Given the description of an element on the screen output the (x, y) to click on. 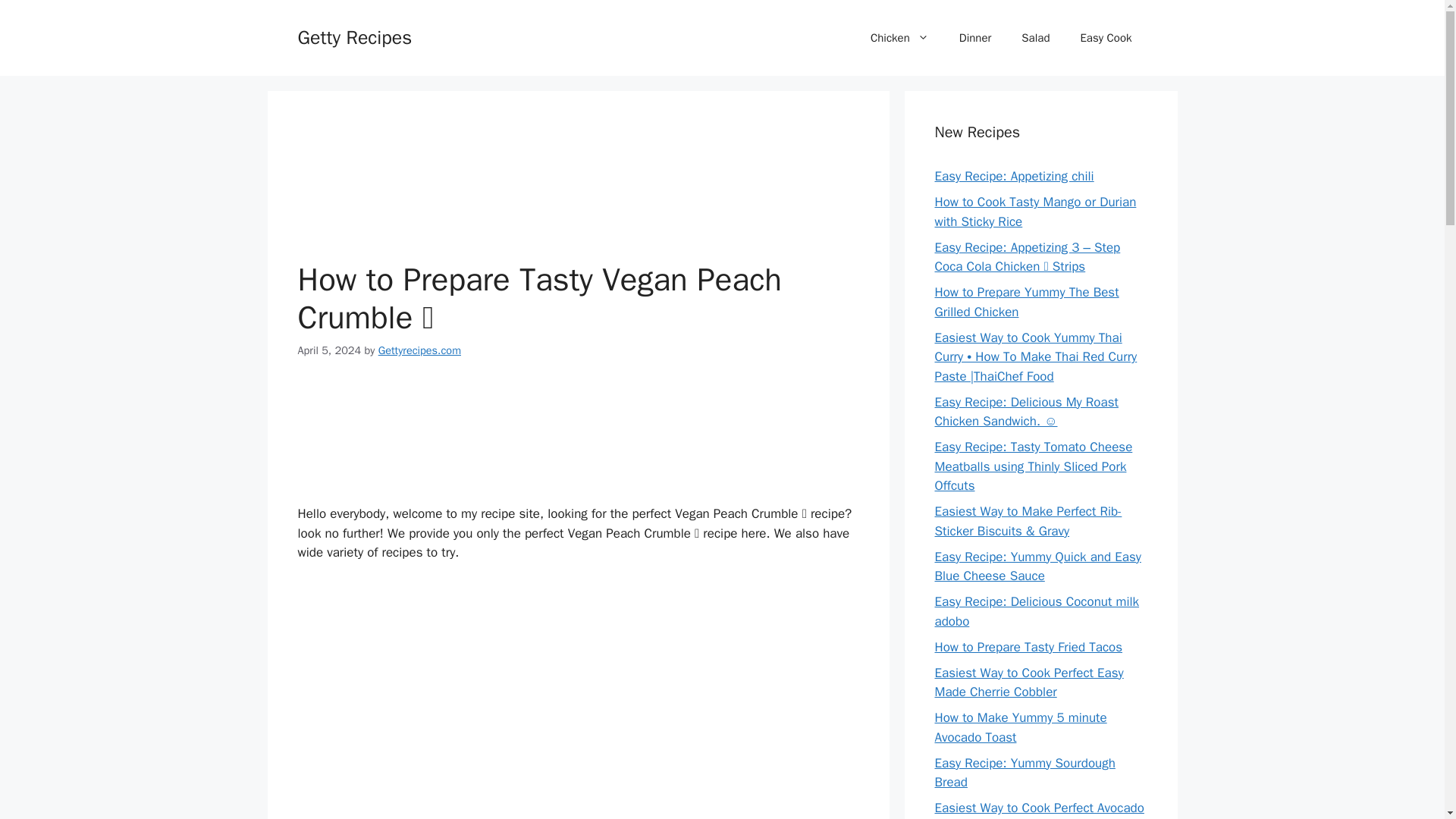
Easy Cook (1105, 37)
Easy Recipe: Appetizing chili (1013, 176)
Dinner (975, 37)
Salad (1035, 37)
How to Cook Tasty Mango or Durian with Sticky Rice (1034, 212)
Chicken (899, 37)
Getty Recipes (354, 37)
How to Prepare Yummy The Best Grilled Chicken (1026, 302)
View all posts by Gettyrecipes.com (419, 350)
Gettyrecipes.com (419, 350)
